Given the description of an element on the screen output the (x, y) to click on. 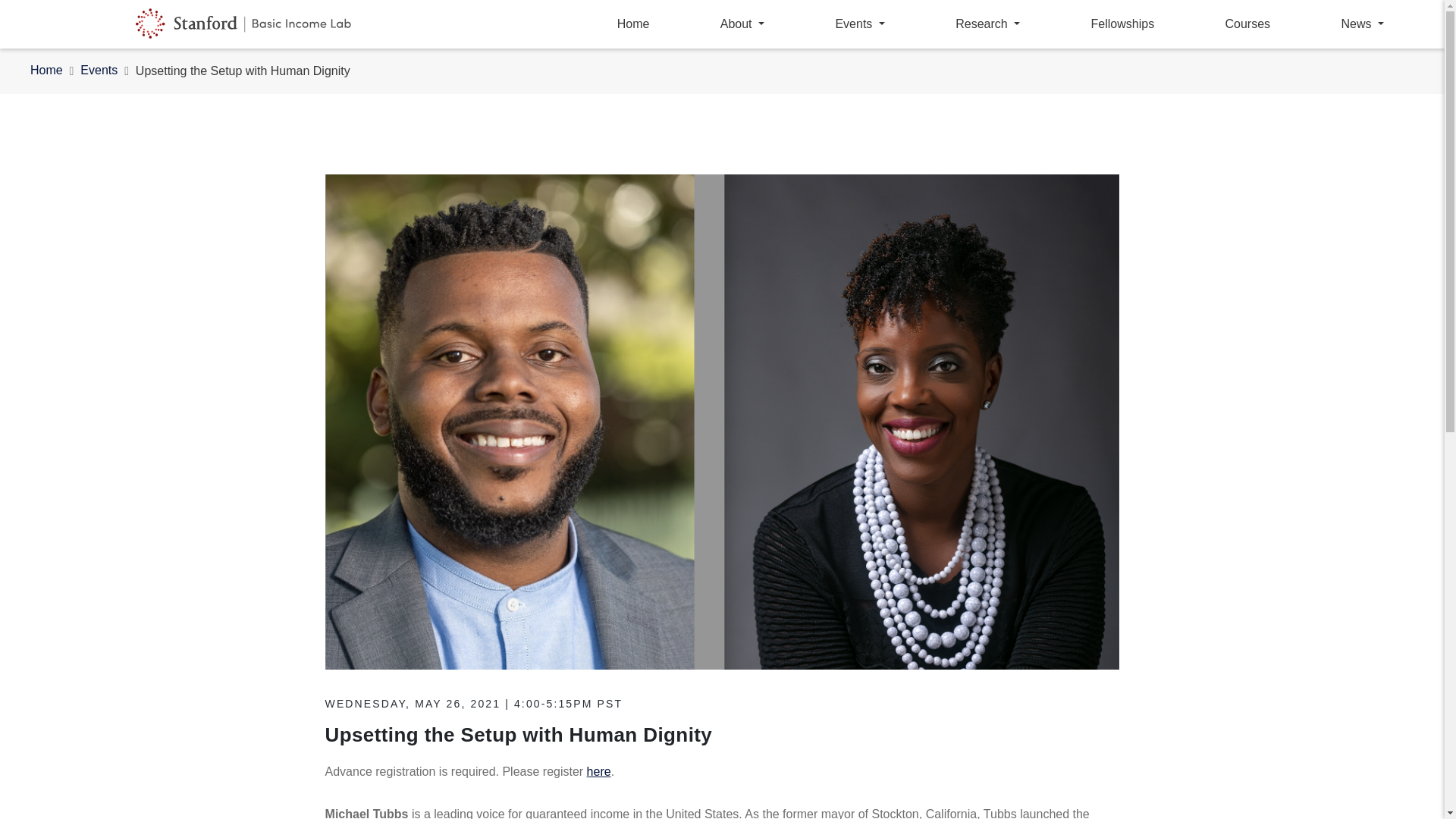
Fellowships (1122, 23)
News (1362, 23)
Research (987, 23)
here (598, 771)
Home (46, 70)
Courses (1248, 23)
Events (858, 23)
About (742, 23)
Events (98, 70)
